Given the description of an element on the screen output the (x, y) to click on. 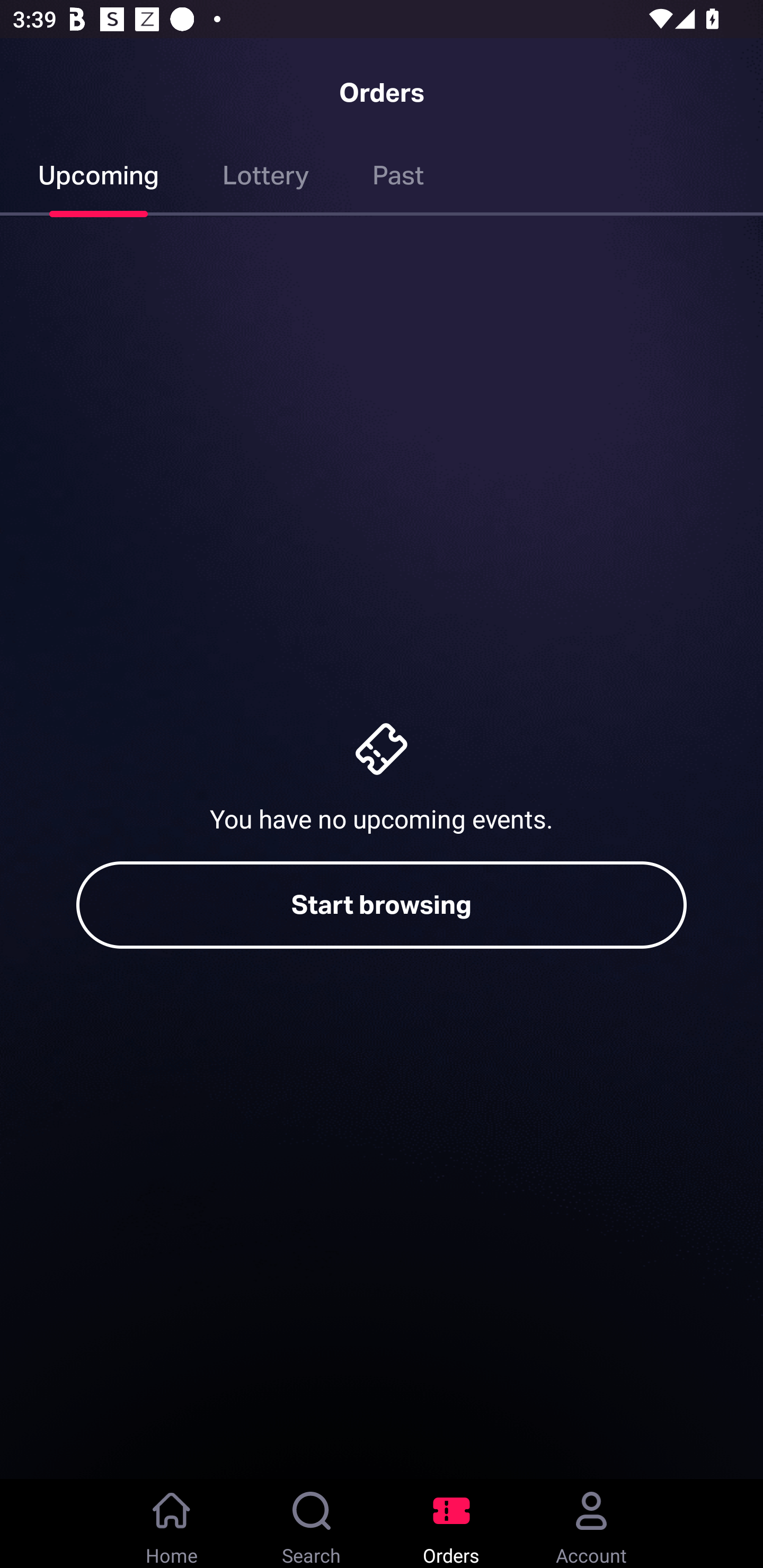
Lottery (265, 179)
Past (398, 179)
Start browsing (381, 904)
Home (171, 1523)
Search (311, 1523)
Account (591, 1523)
